Given the description of an element on the screen output the (x, y) to click on. 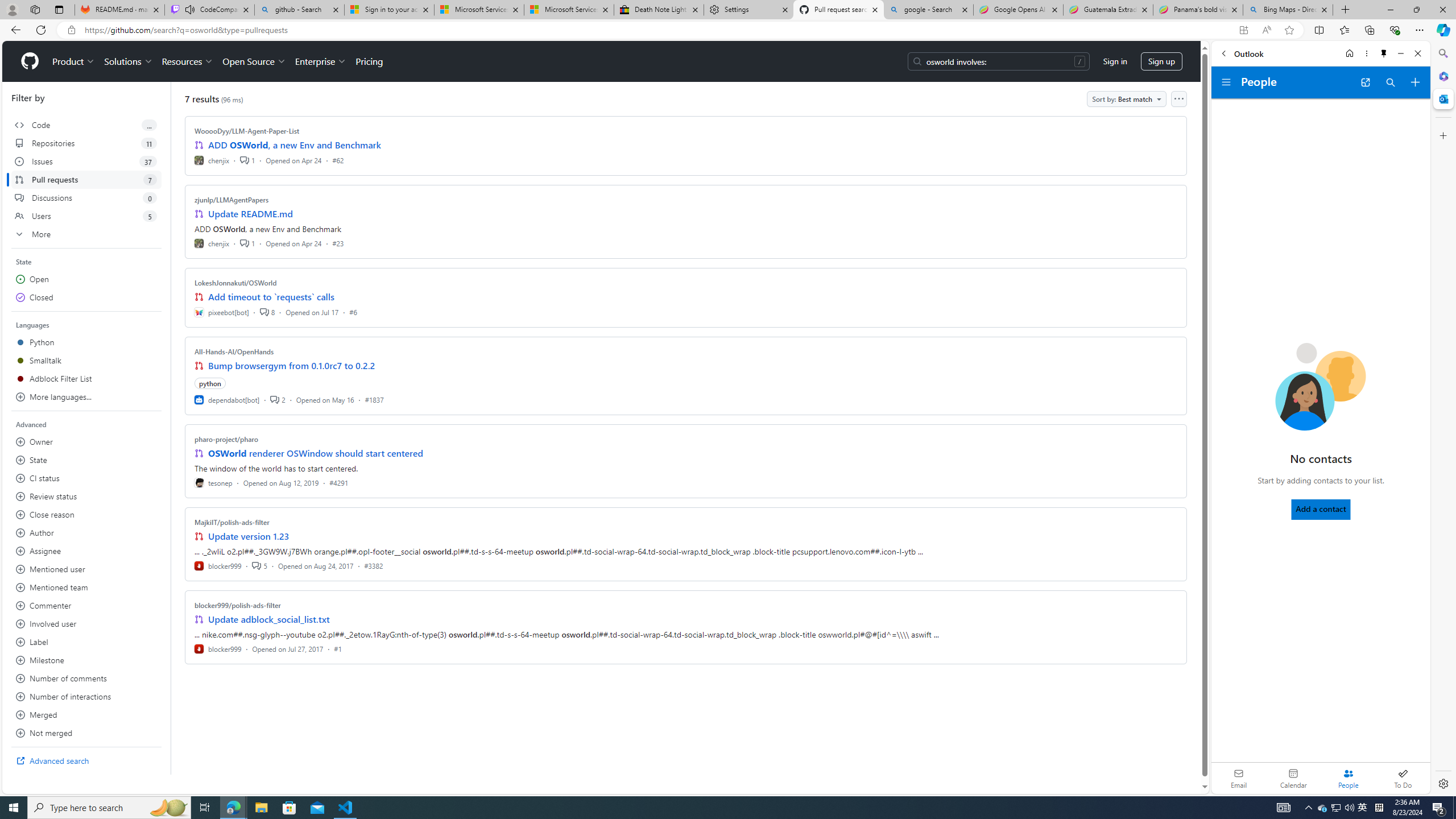
Advanced search (86, 760)
#6 (352, 311)
#1 (337, 648)
#4291 (338, 482)
Advanced search (86, 760)
